Given the description of an element on the screen output the (x, y) to click on. 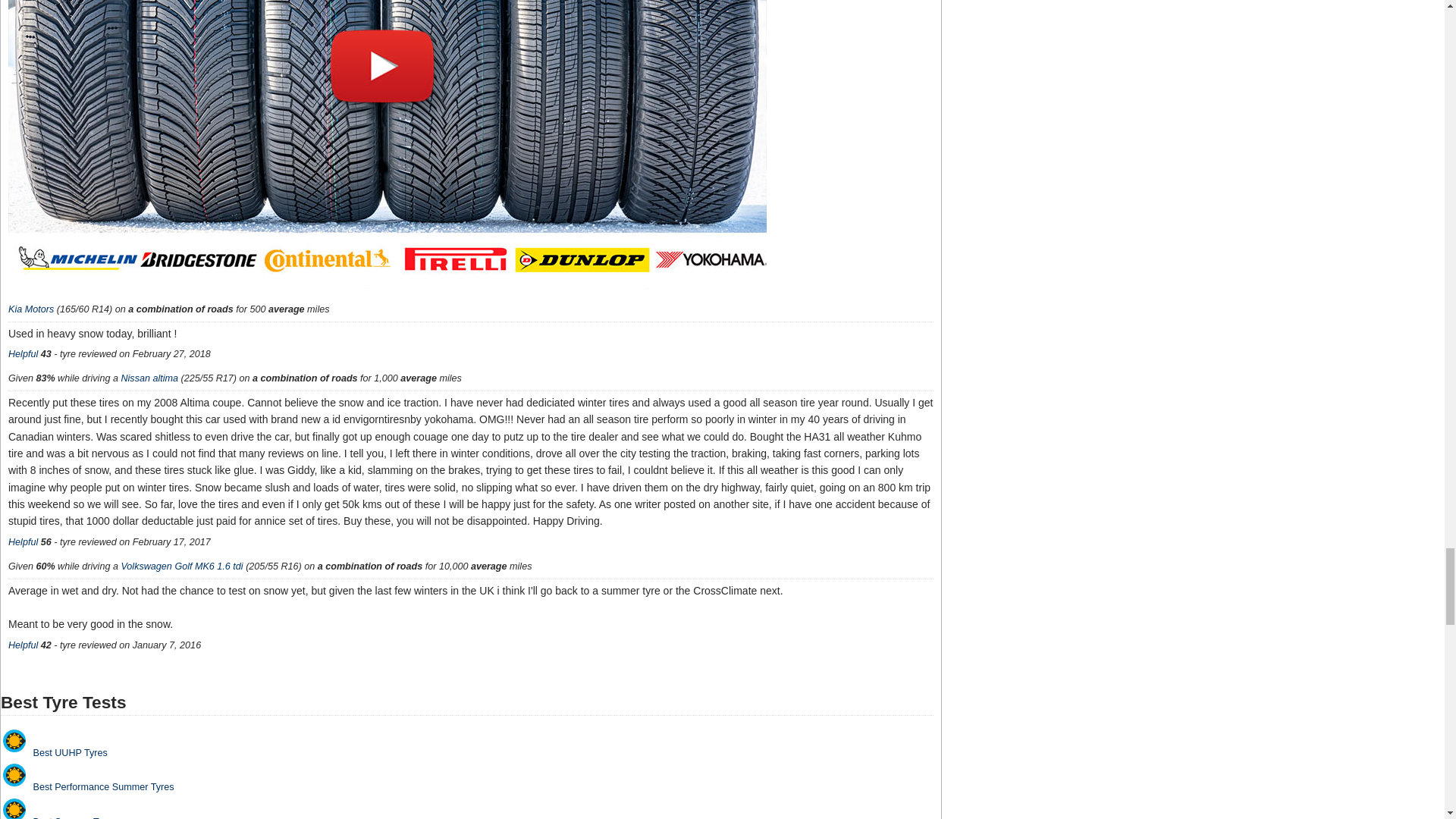
Best Performance Summer Tyres (14, 774)
Best UUHP Tyres (14, 740)
Best Summer Tyres (14, 808)
